Given the description of an element on the screen output the (x, y) to click on. 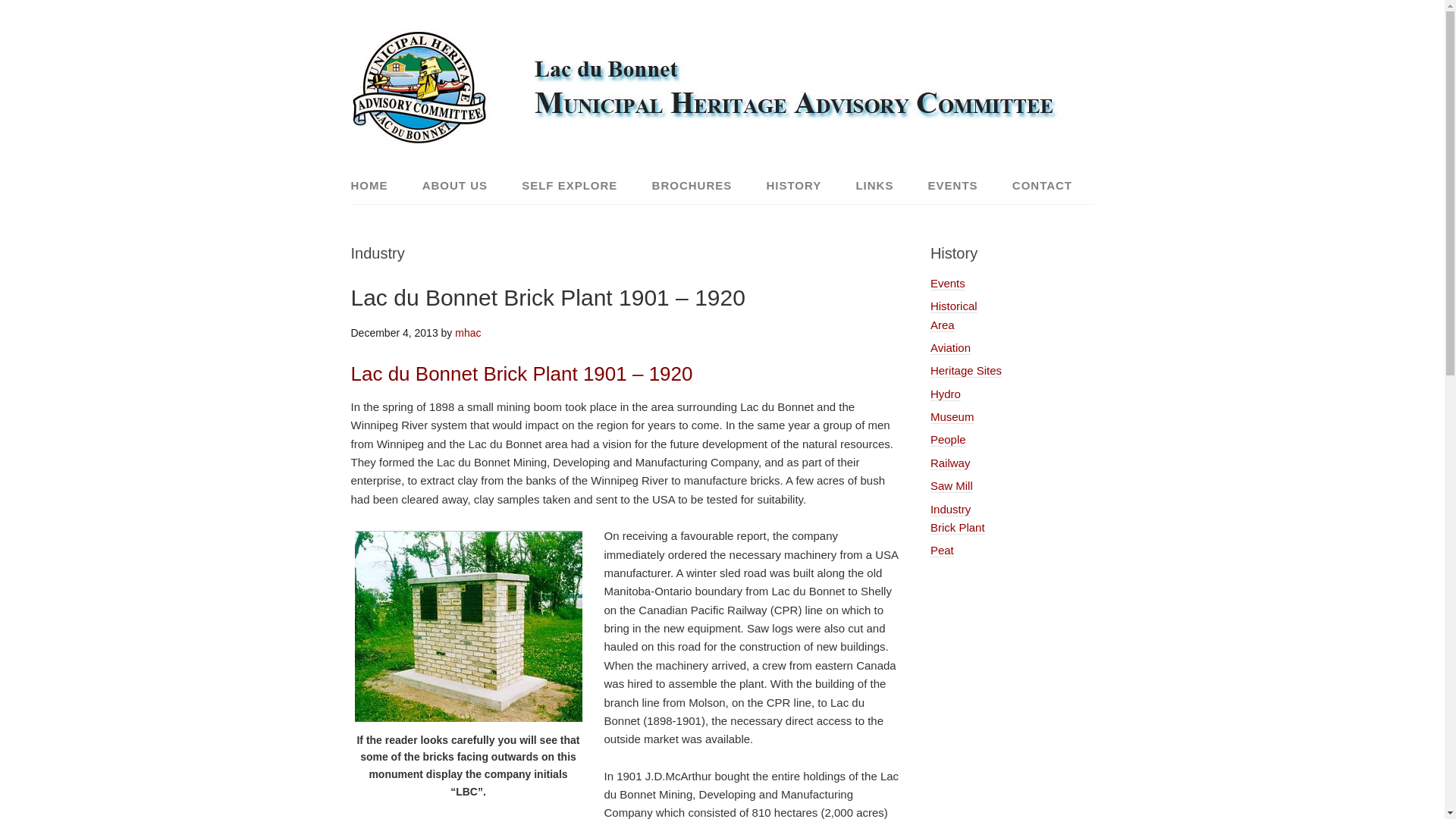
Posts by mhac (467, 332)
ABOUT US (454, 185)
Historical (953, 305)
HISTORY (793, 185)
HOME (376, 185)
mhac (467, 332)
Events (947, 283)
Heritage Sites (965, 370)
Aviation (950, 347)
Industry (950, 508)
